Given the description of an element on the screen output the (x, y) to click on. 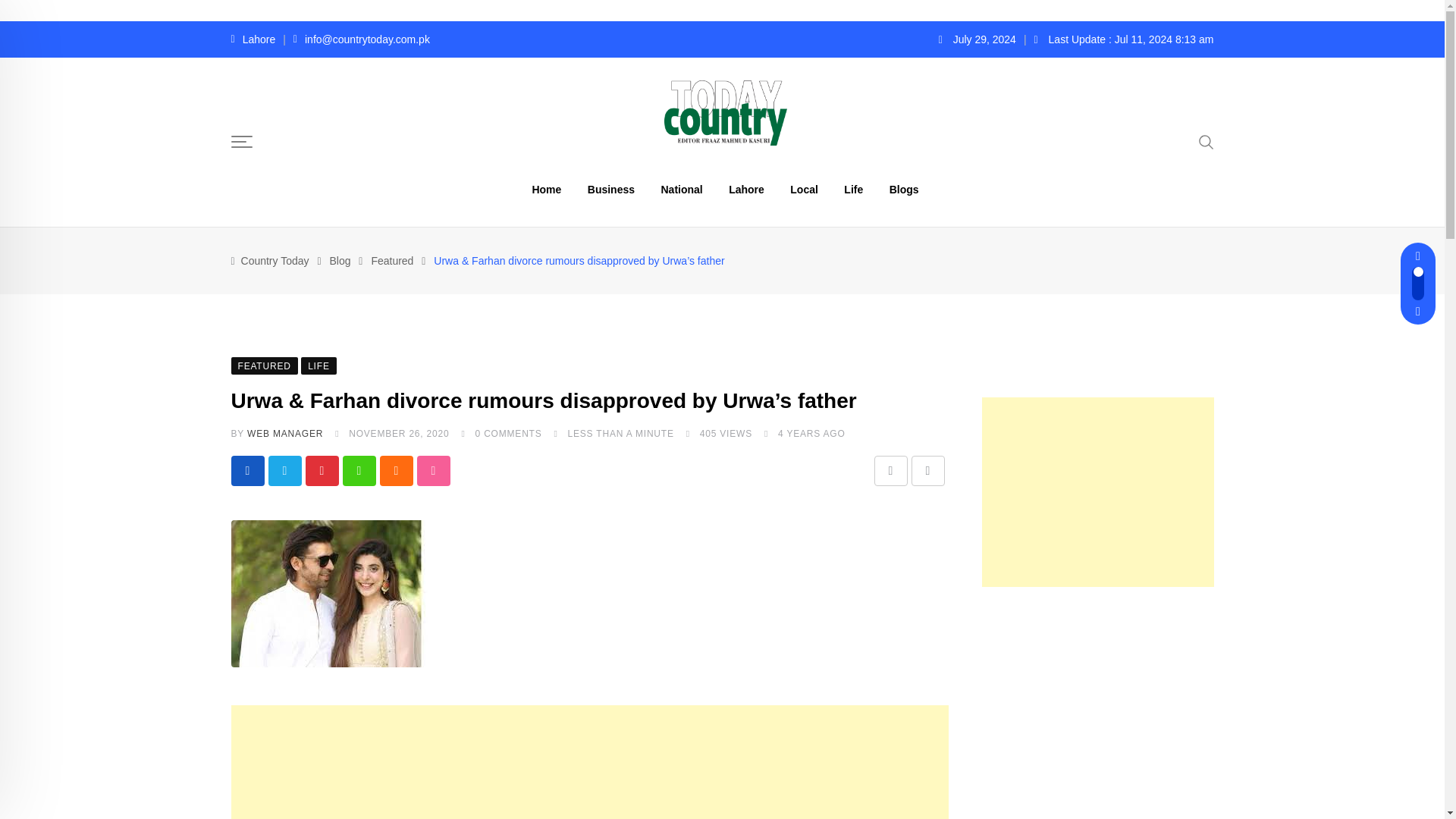
Posts by Web Manager (285, 433)
Go to Blog. (339, 260)
Go to Country Today. (274, 260)
Search (1205, 140)
Advertisement (1096, 696)
Advertisement (588, 762)
Go to the Featured category archives. (392, 260)
Business (611, 189)
